Given the description of an element on the screen output the (x, y) to click on. 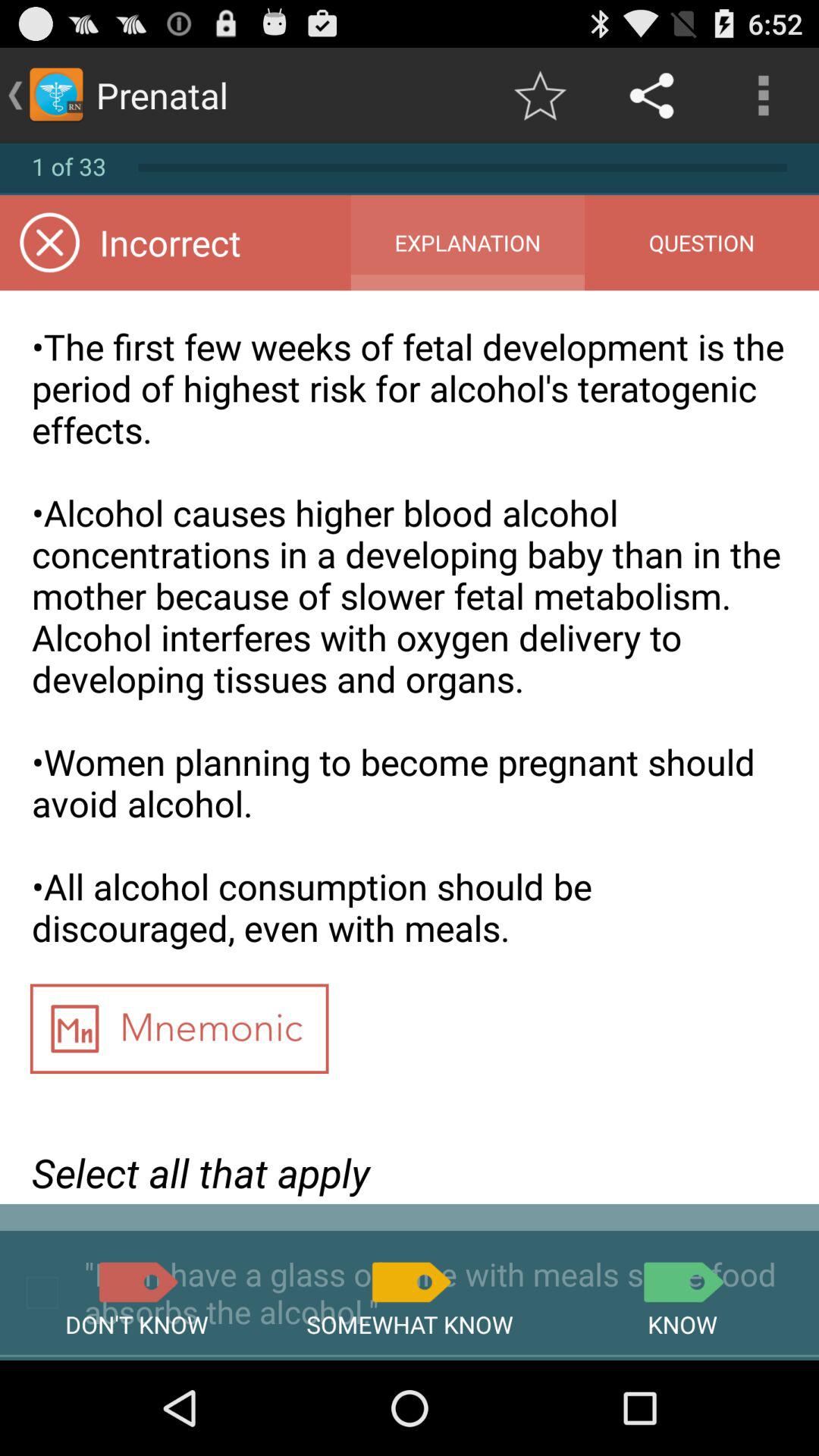
know (682, 1281)
